Given the description of an element on the screen output the (x, y) to click on. 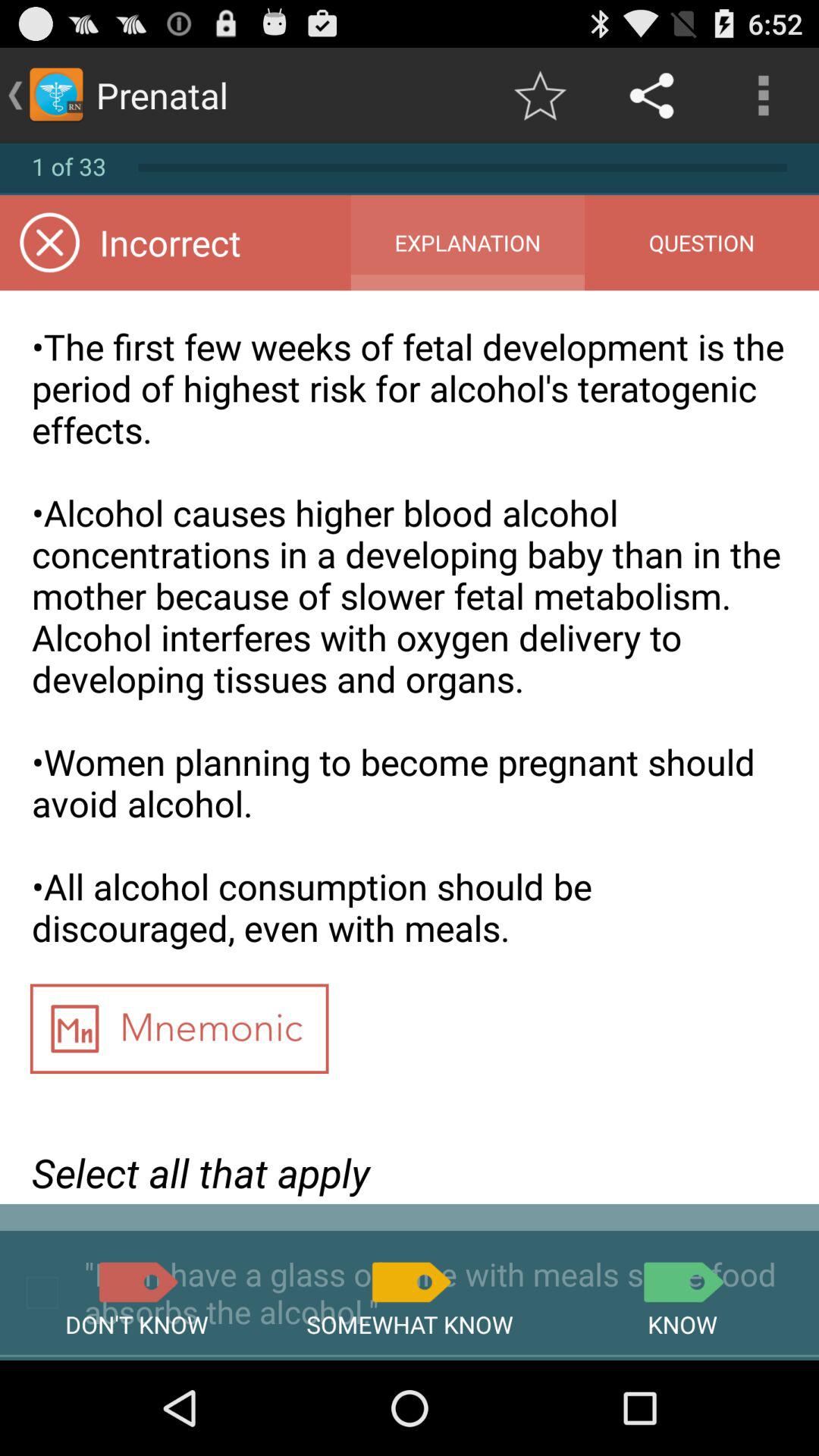
know (682, 1281)
